Given the description of an element on the screen output the (x, y) to click on. 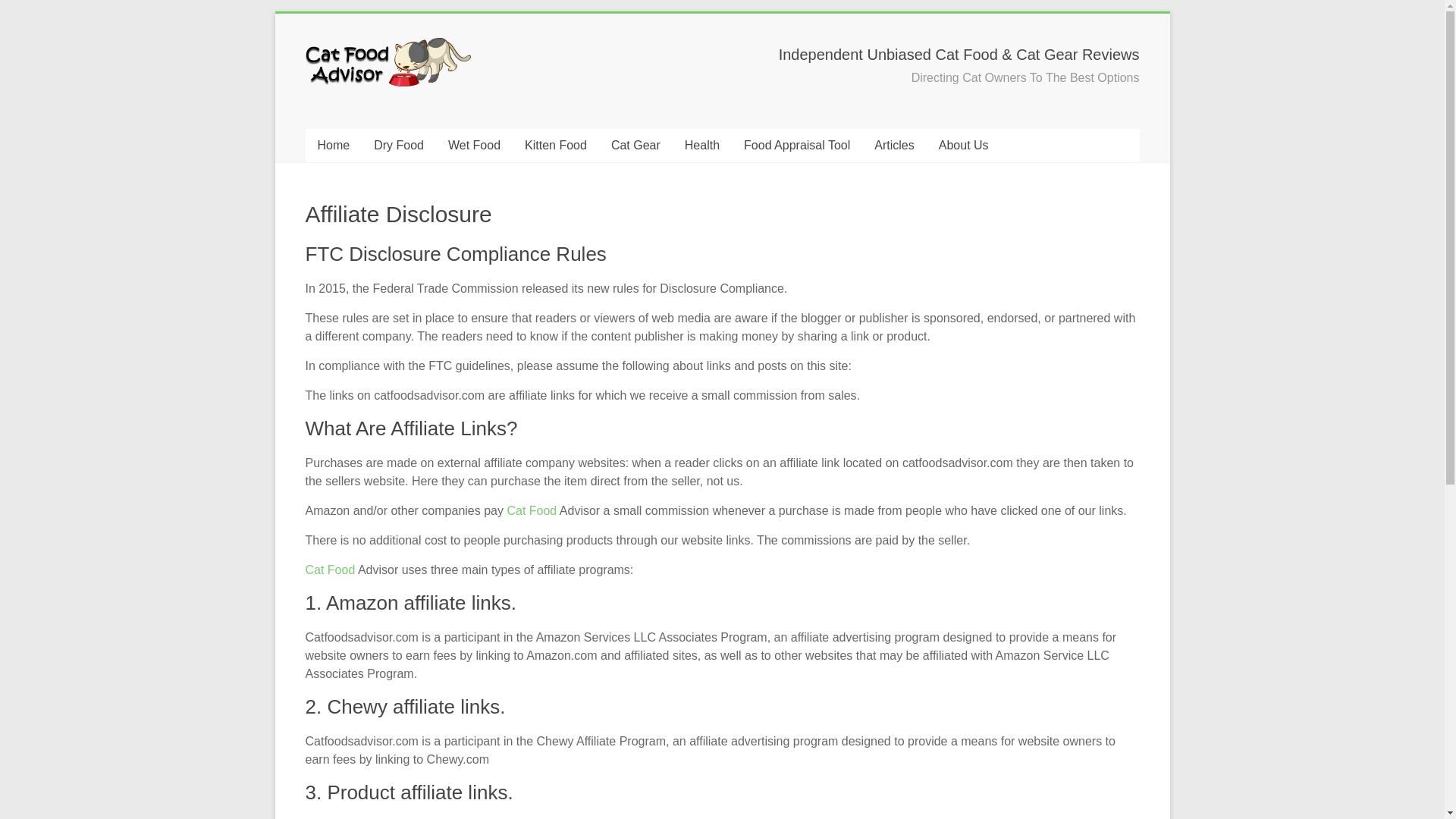
Cat Gear (635, 145)
Health (702, 145)
Dry Food (398, 145)
Kitten Food (555, 145)
Home (332, 145)
Articles (893, 145)
Wet Food (473, 145)
Food Appraisal Tool (796, 145)
